Given the description of an element on the screen output the (x, y) to click on. 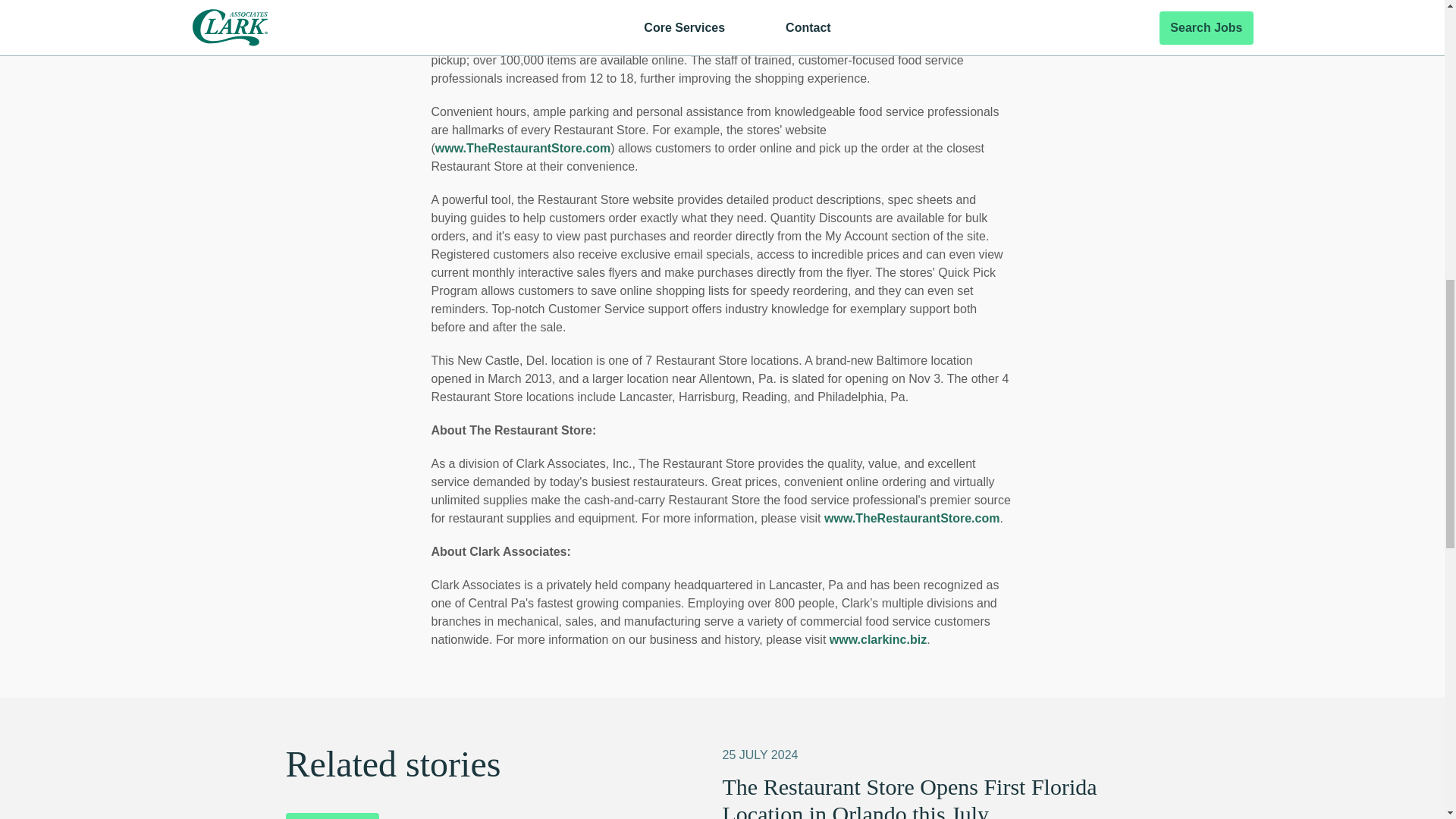
www.TheRestaurantStore.com (911, 517)
www.clarkinc.biz (877, 639)
www.TheRestaurantStore.com (522, 147)
See all news (331, 816)
